Given the description of an element on the screen output the (x, y) to click on. 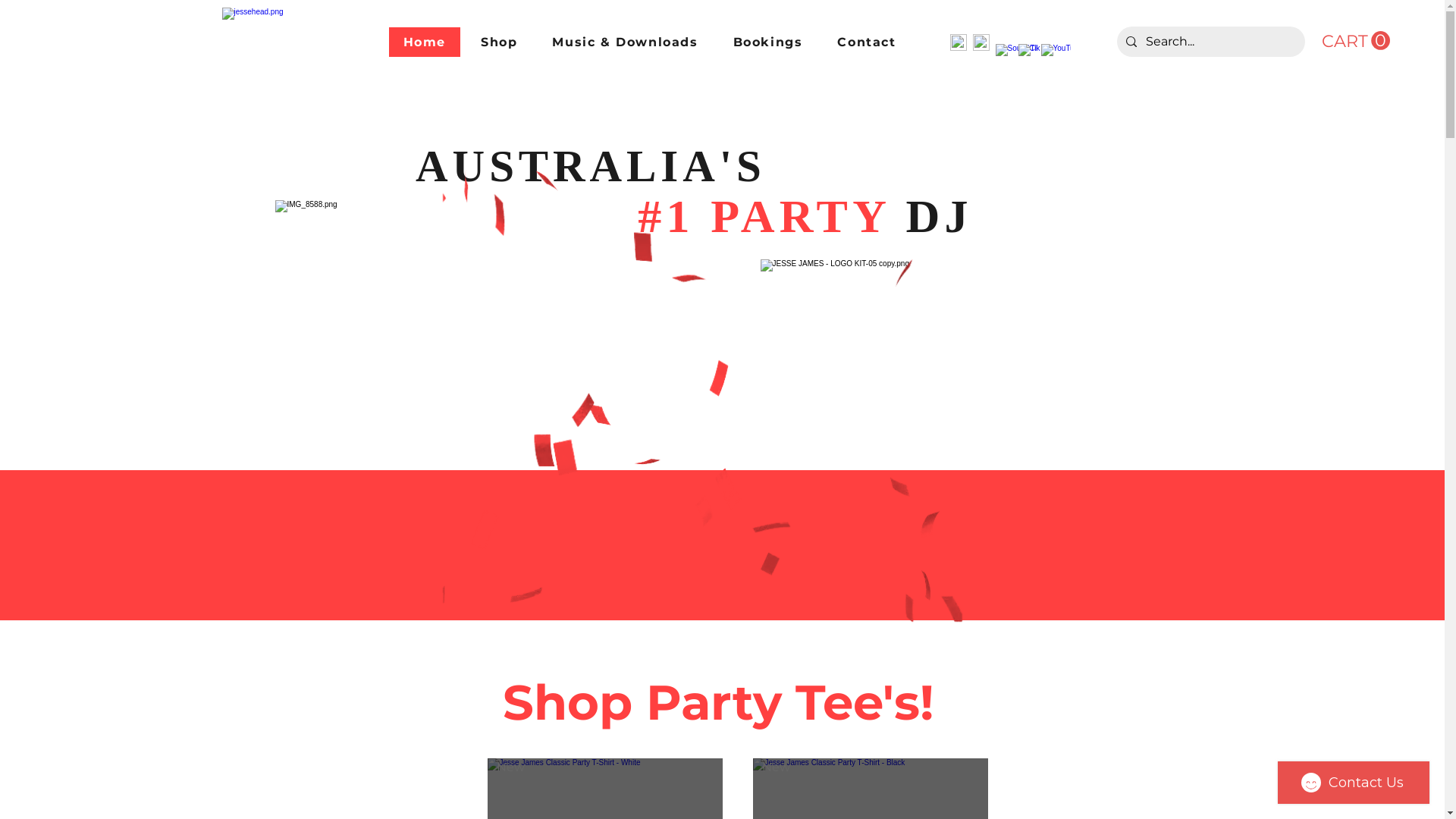
Contact Element type: text (866, 41)
Home Element type: text (423, 41)
0
CART Element type: text (1355, 40)
Bookings Element type: text (767, 41)
Shop Element type: text (498, 41)
Music & Downloads Element type: text (624, 41)
